Given the description of an element on the screen output the (x, y) to click on. 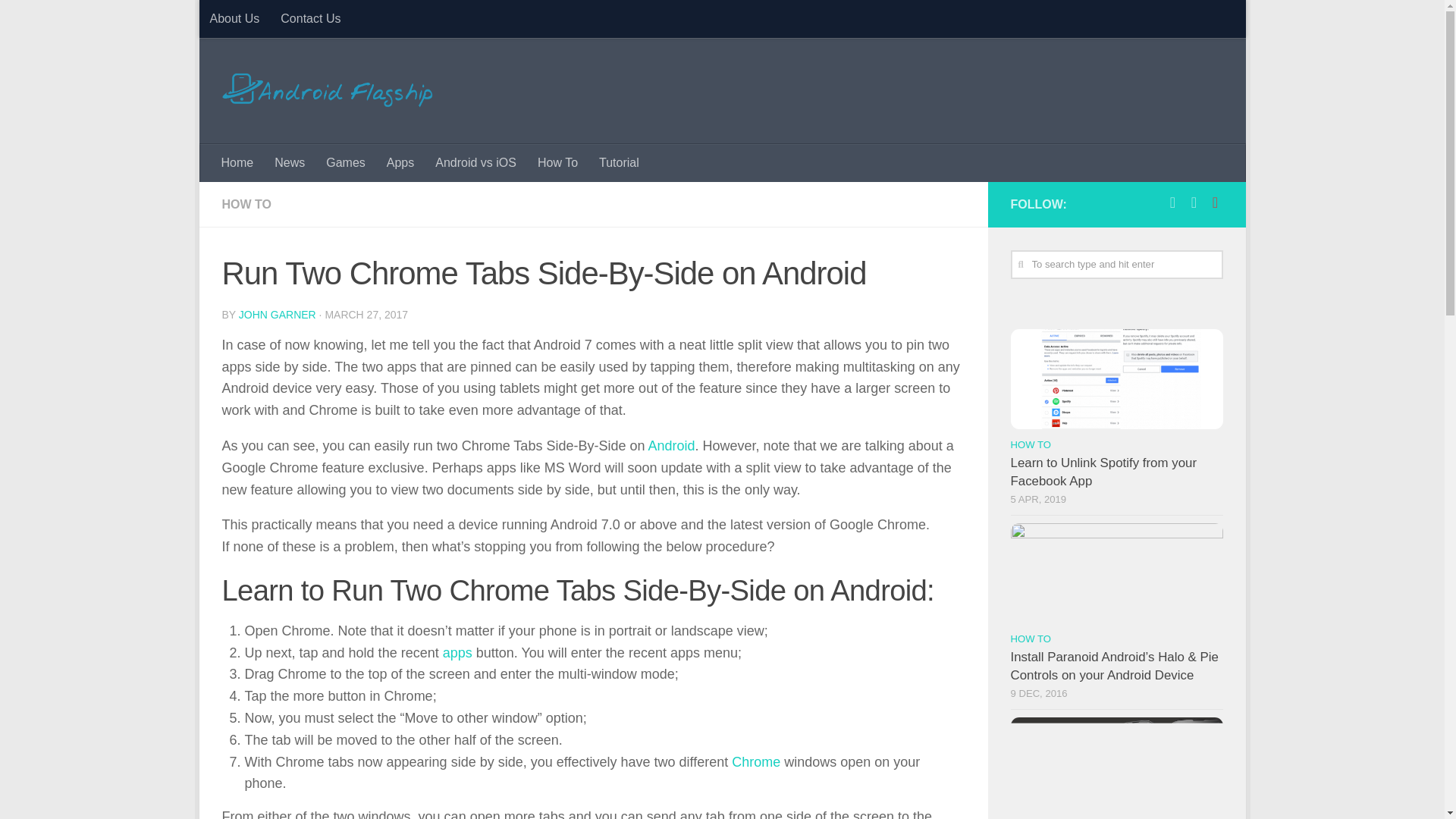
Follow us on Twitter (1193, 201)
How To (557, 162)
About Us (233, 18)
HOW TO (245, 204)
Games (345, 162)
apps (456, 652)
Android vs iOS (476, 162)
To search type and hit enter (1116, 264)
Apps (400, 162)
Follow us on Facebook (1171, 201)
Follow us on Email-o (1215, 201)
Tutorial (618, 162)
Chrome (756, 761)
Contact Us (309, 18)
Android (670, 445)
